Given the description of an element on the screen output the (x, y) to click on. 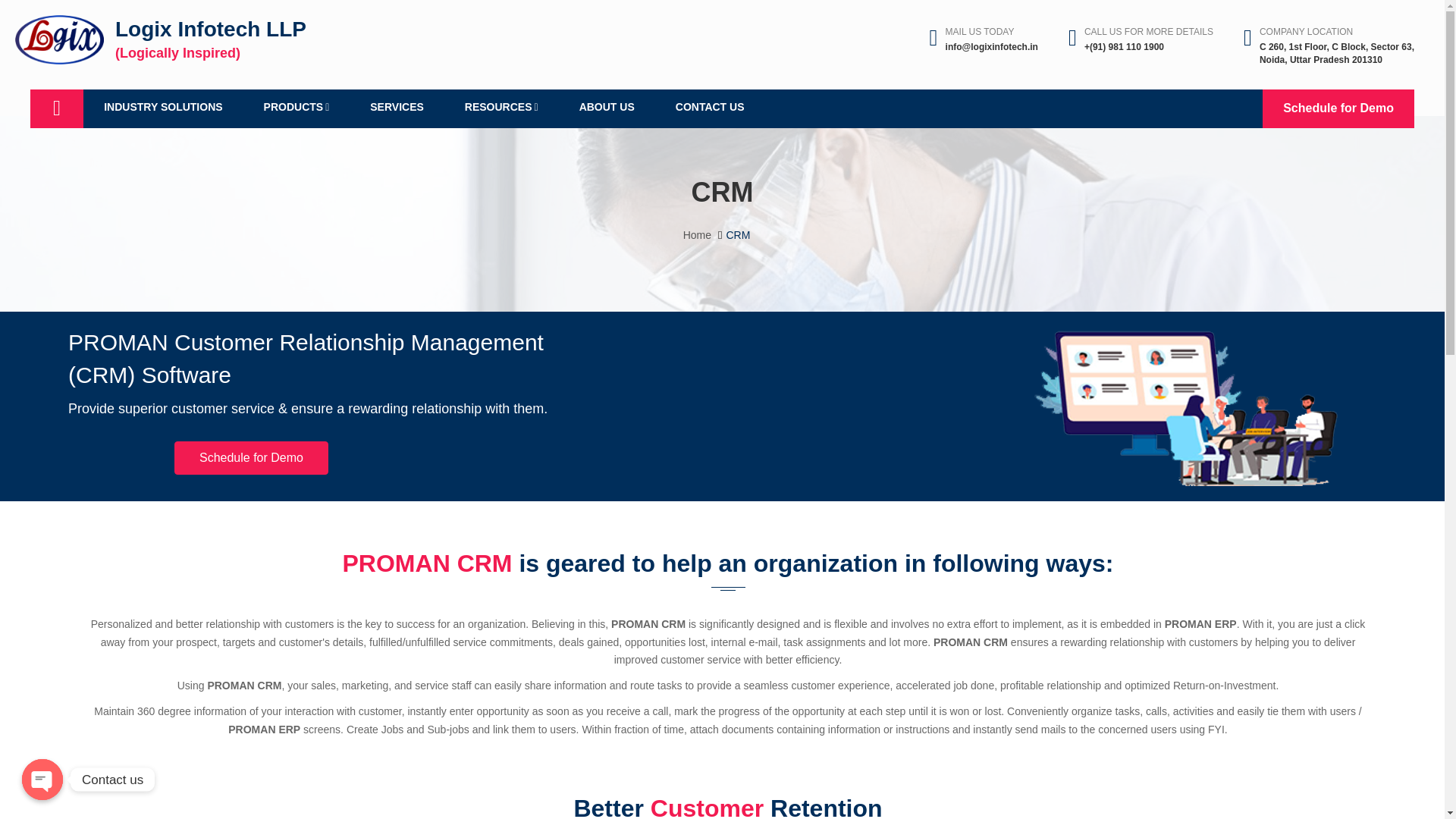
MAIL US TODAY (979, 31)
SERVICES (396, 107)
CALL US FOR MORE DETAILS (1148, 31)
PRODUCTS (296, 107)
INDUSTRY SOLUTIONS (162, 107)
RESOURCES (501, 107)
COMPANY LOCATION (1305, 31)
